Given the description of an element on the screen output the (x, y) to click on. 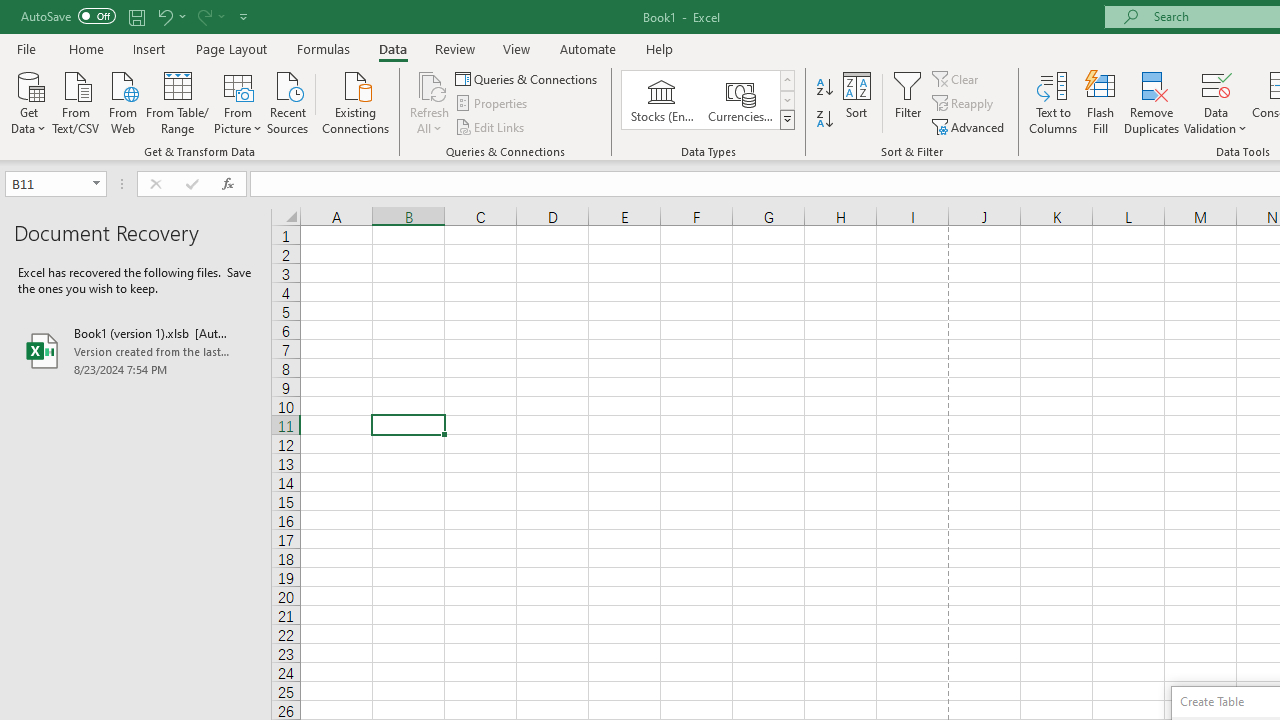
Existing Connections (355, 101)
From Picture (238, 101)
Sort... (856, 102)
Data Types (786, 120)
Row Down (786, 100)
Flash Fill (1101, 102)
